Given the description of an element on the screen output the (x, y) to click on. 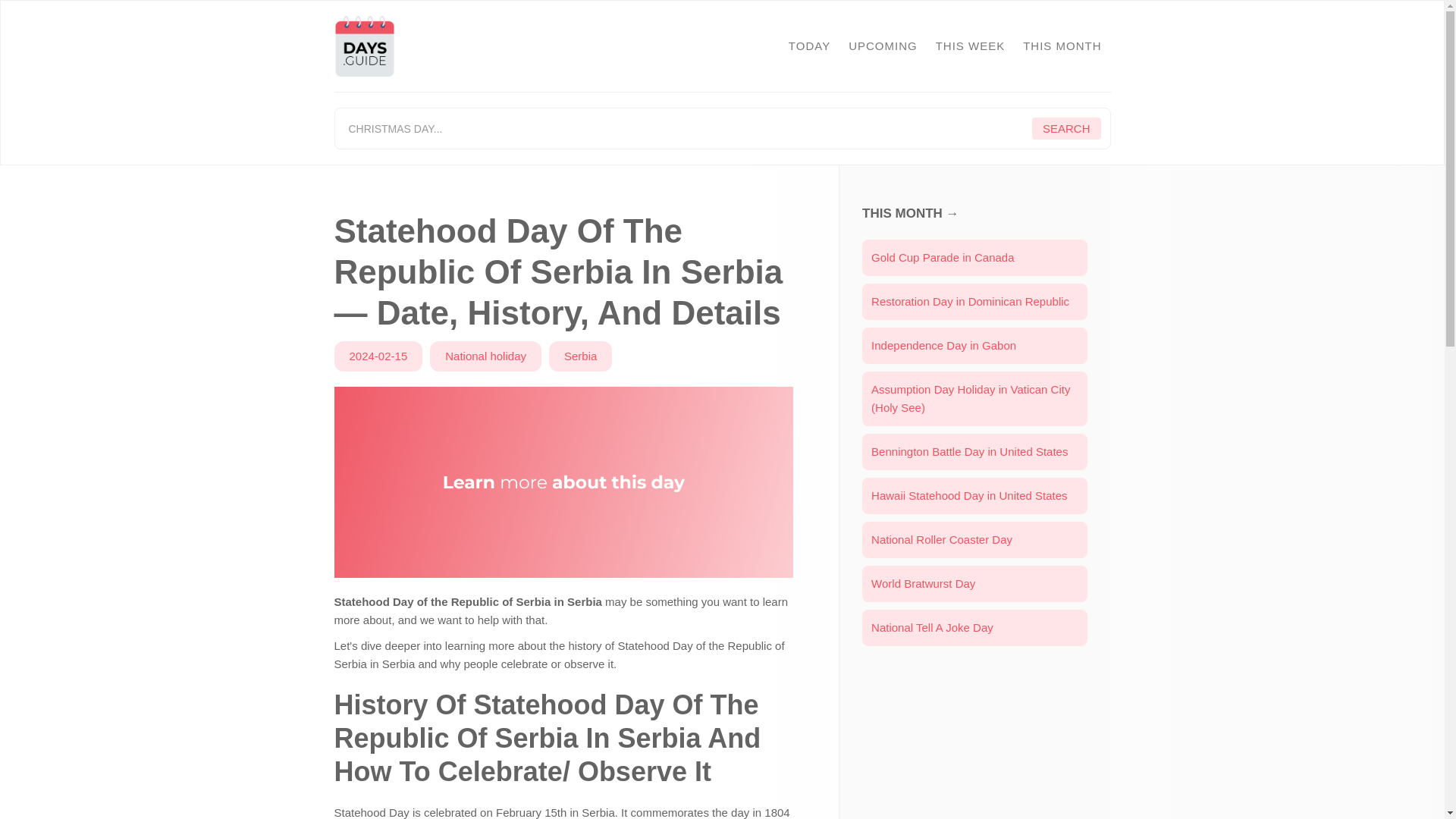
search (1066, 128)
Independence Day in Gabon (974, 345)
THIS MONTH (1061, 45)
search (1066, 128)
Bennington Battle Day in United States (974, 452)
National holiday (485, 356)
2024-02-15 (377, 356)
Hawaii Statehood Day in United States (974, 495)
Restoration Day in Dominican Republic (974, 301)
THIS WEEK (970, 45)
